Given the description of an element on the screen output the (x, y) to click on. 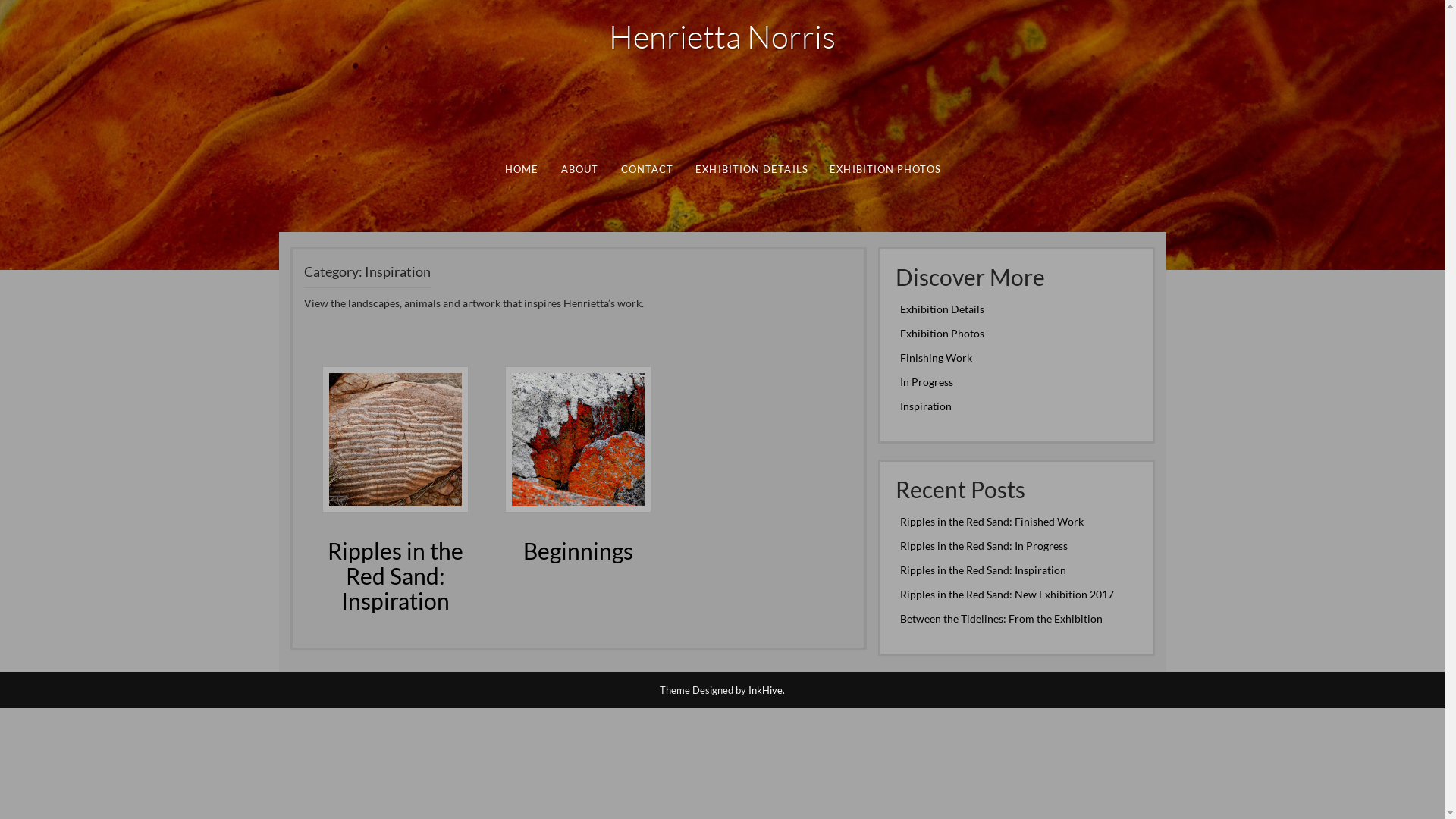
Ripples in the Red Sand: New Exhibition 2017 Element type: text (1006, 593)
Ripples in the Red Sand: Inspiration Element type: text (395, 575)
Beginnings Element type: text (578, 550)
Beginnings Element type: hover (577, 437)
Ripples in the Red Sand: Finished Work Element type: text (990, 520)
Henrietta Norris Element type: text (721, 35)
Ripples in the Red Sand: In Progress Element type: text (982, 545)
Inspiration Element type: text (924, 405)
InkHive Element type: text (765, 690)
Finishing Work Element type: text (935, 357)
Ripples in the Red Sand: Inspiration Element type: text (982, 569)
HOME Element type: text (520, 169)
Exhibition Photos Element type: text (941, 332)
Between the Tidelines: From the Exhibition Element type: text (1000, 617)
Exhibition Details Element type: text (941, 308)
Ripples in the Red Sand: Inspiration Element type: hover (395, 437)
In Progress Element type: text (925, 381)
CONTACT Element type: text (646, 169)
EXHIBITION DETAILS Element type: text (751, 169)
EXHIBITION PHOTOS Element type: text (884, 169)
ABOUT Element type: text (578, 169)
